Given the description of an element on the screen output the (x, y) to click on. 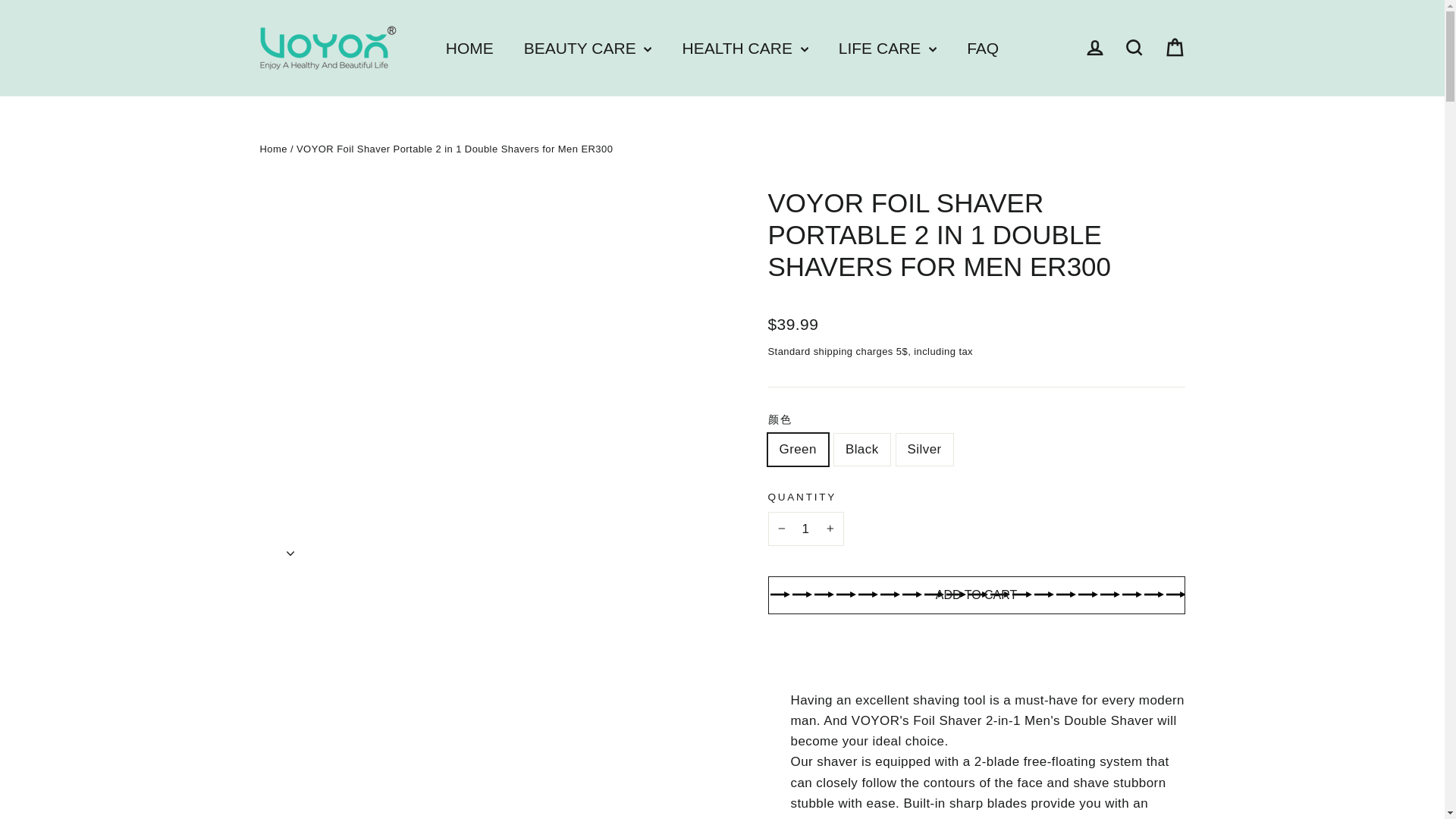
LIFE CARE (888, 48)
HOME (469, 48)
1 (805, 528)
Back to the frontpage (272, 148)
HEALTH CARE (744, 48)
BEAUTY CARE (587, 48)
